Given the description of an element on the screen output the (x, y) to click on. 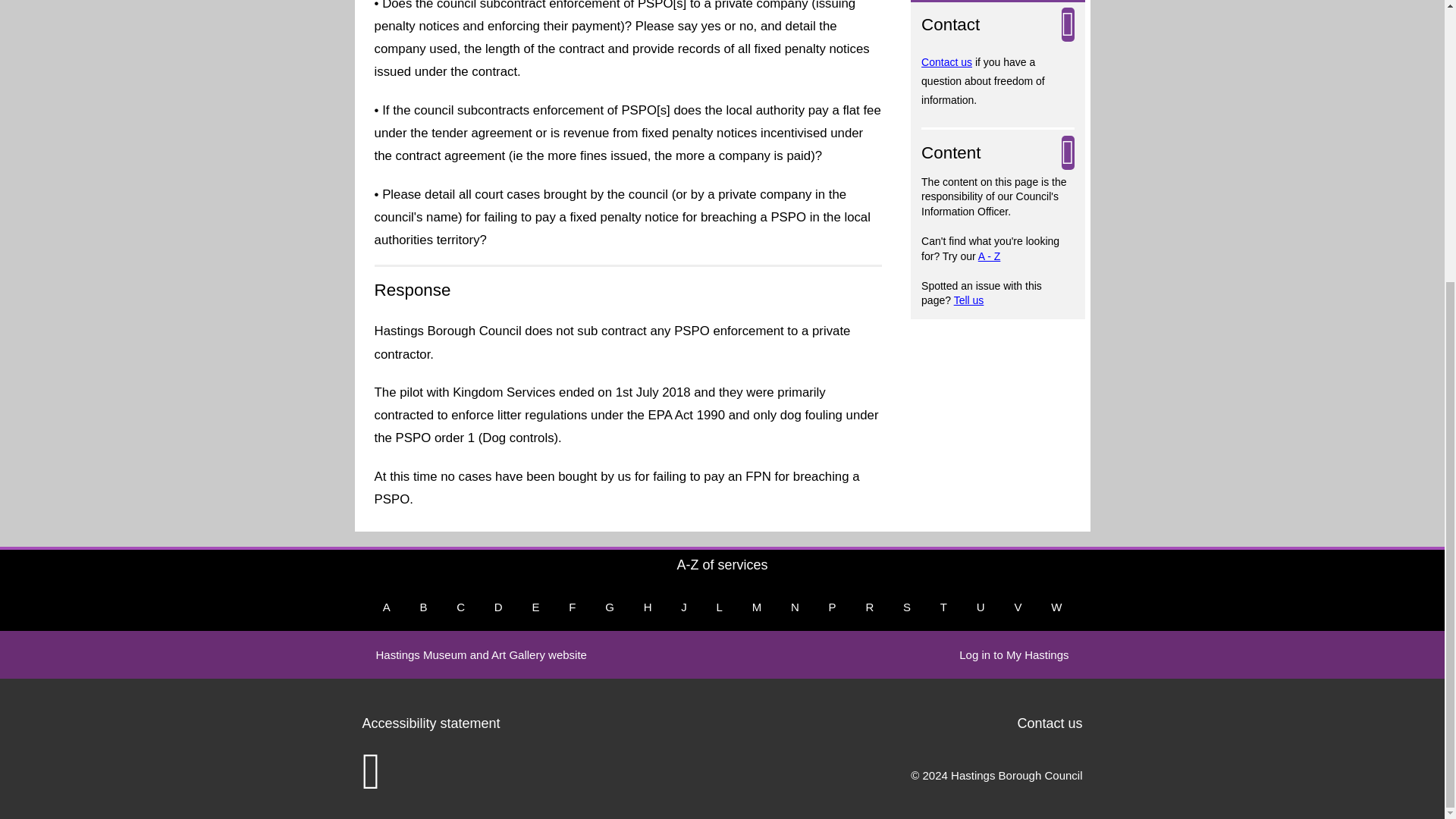
M (757, 607)
W (1055, 607)
Tell us (968, 299)
Log in to My Hastings (1012, 654)
G (609, 607)
Internal link to My Hastings Contact Us form (946, 61)
Hastings Museum and Art Gallery website (480, 654)
Contact us (946, 61)
